Given the description of an element on the screen output the (x, y) to click on. 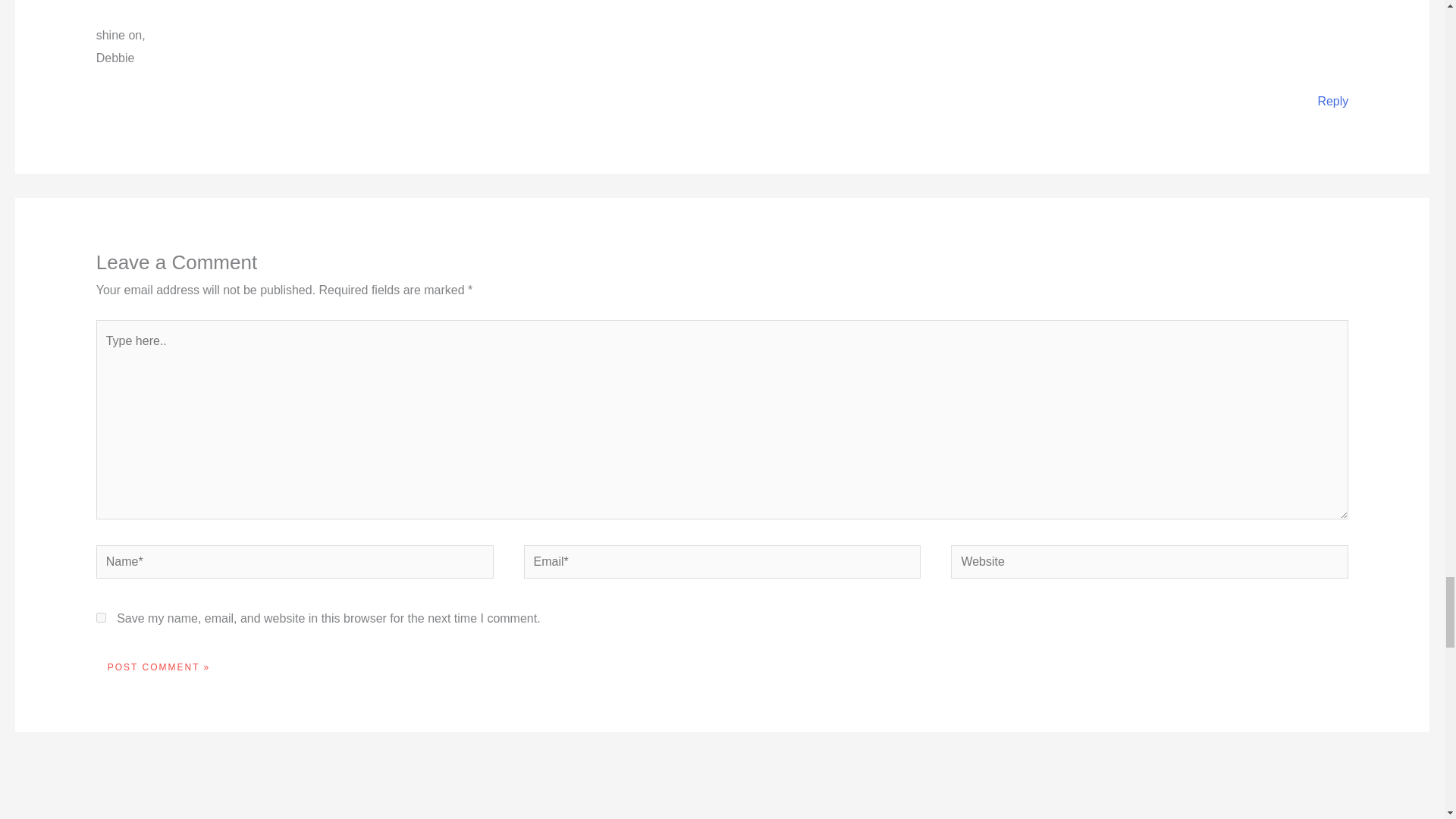
yes (101, 617)
